Given the description of an element on the screen output the (x, y) to click on. 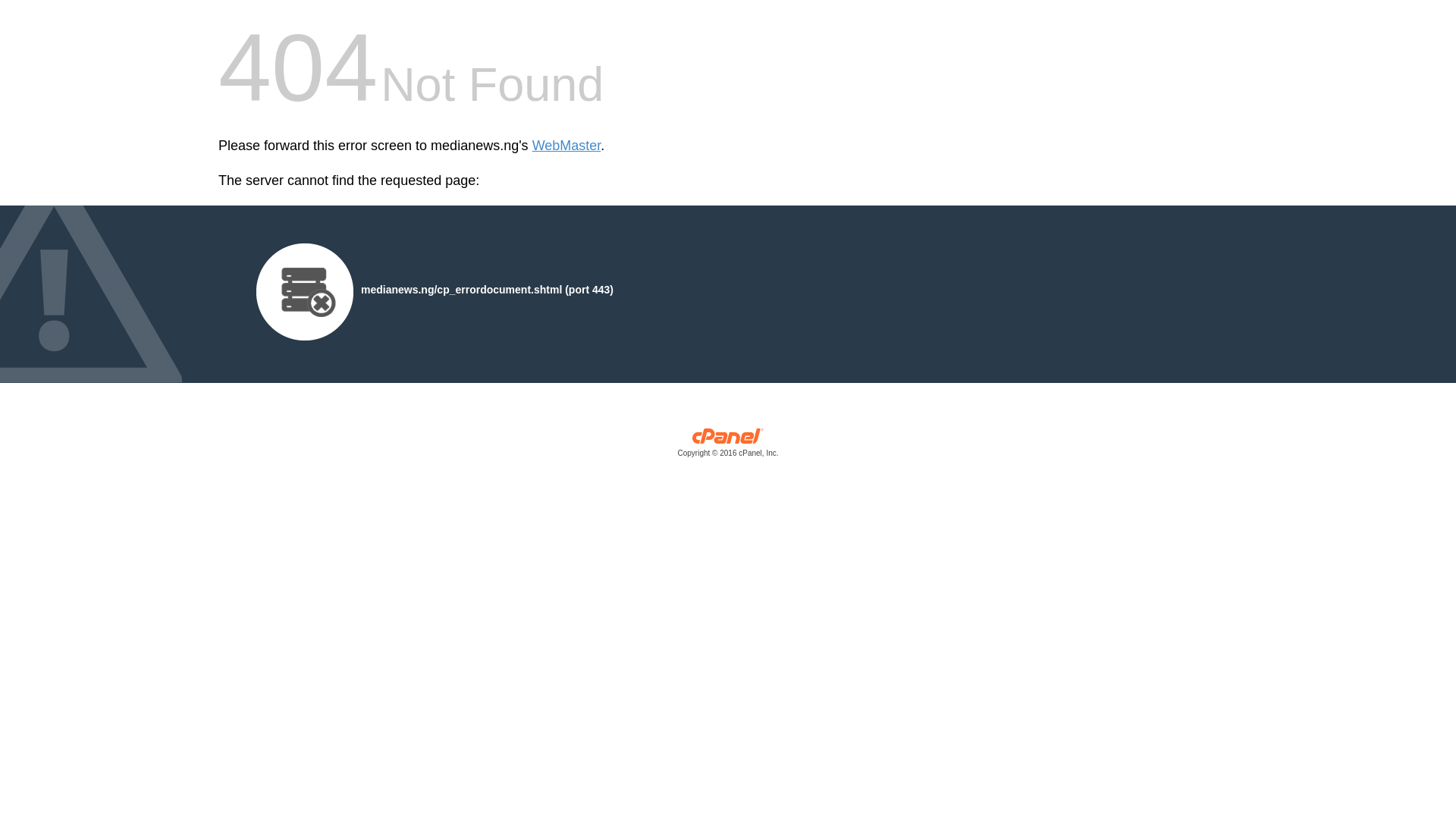
cPanel, Inc. (727, 446)
WebMaster (566, 145)
